Given the description of an element on the screen output the (x, y) to click on. 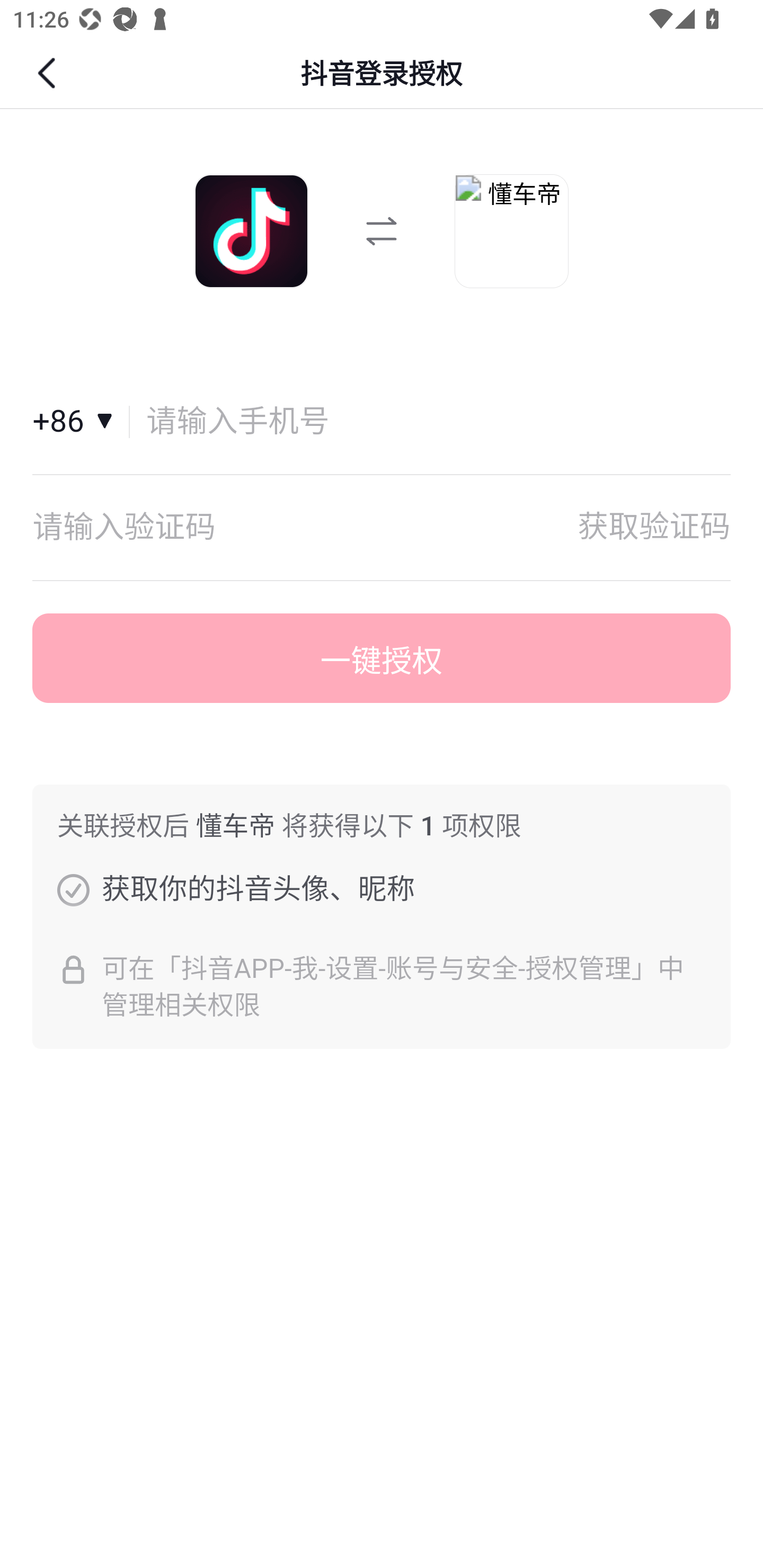
返回 (49, 72)
国家和地区+86 (81, 421)
获取验证码 (653, 526)
一键授权 (381, 658)
获取你的抖音头像、昵称 (72, 889)
